Given the description of an element on the screen output the (x, y) to click on. 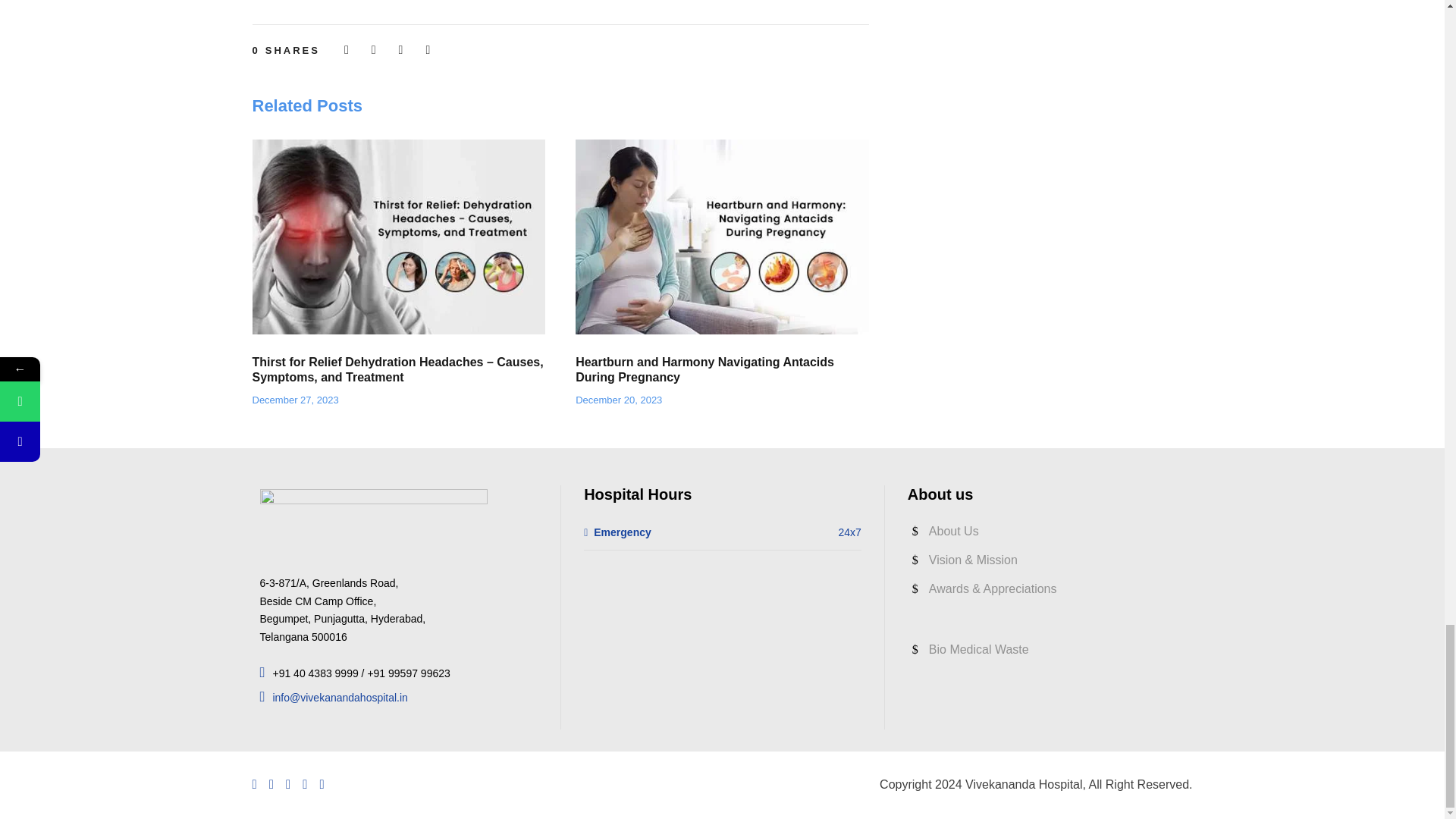
Heartburn and Harmony Navigating Antacids During Pregnancy (722, 236)
